Given the description of an element on the screen output the (x, y) to click on. 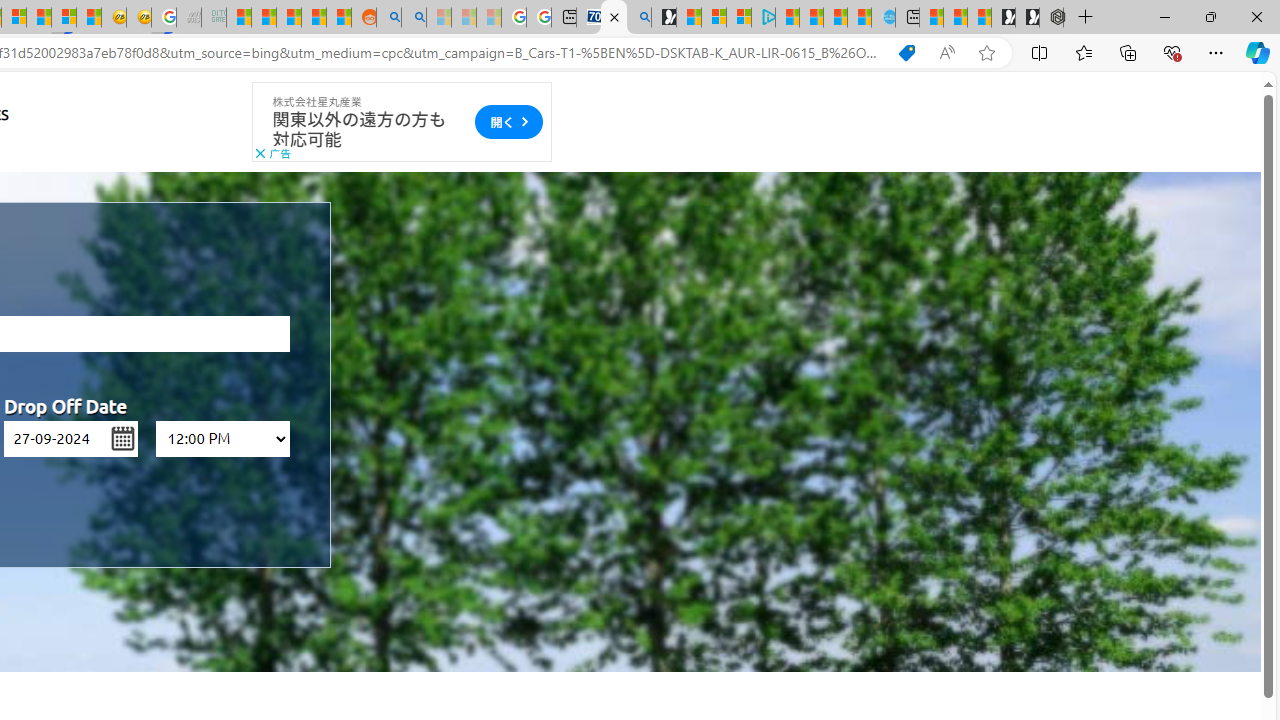
Navy Quest (188, 17)
AutomationID: cbb (260, 153)
Cheap Car Rentals - Save70.com (613, 17)
Home | Sky Blue Bikes - Sky Blue Bikes (882, 17)
Microsoft Start (835, 17)
Microsoft Start Gaming (663, 17)
Nordace - Nordace Siena Is Not An Ordinary Backpack (1051, 17)
New tab (907, 17)
